Given the description of an element on the screen output the (x, y) to click on. 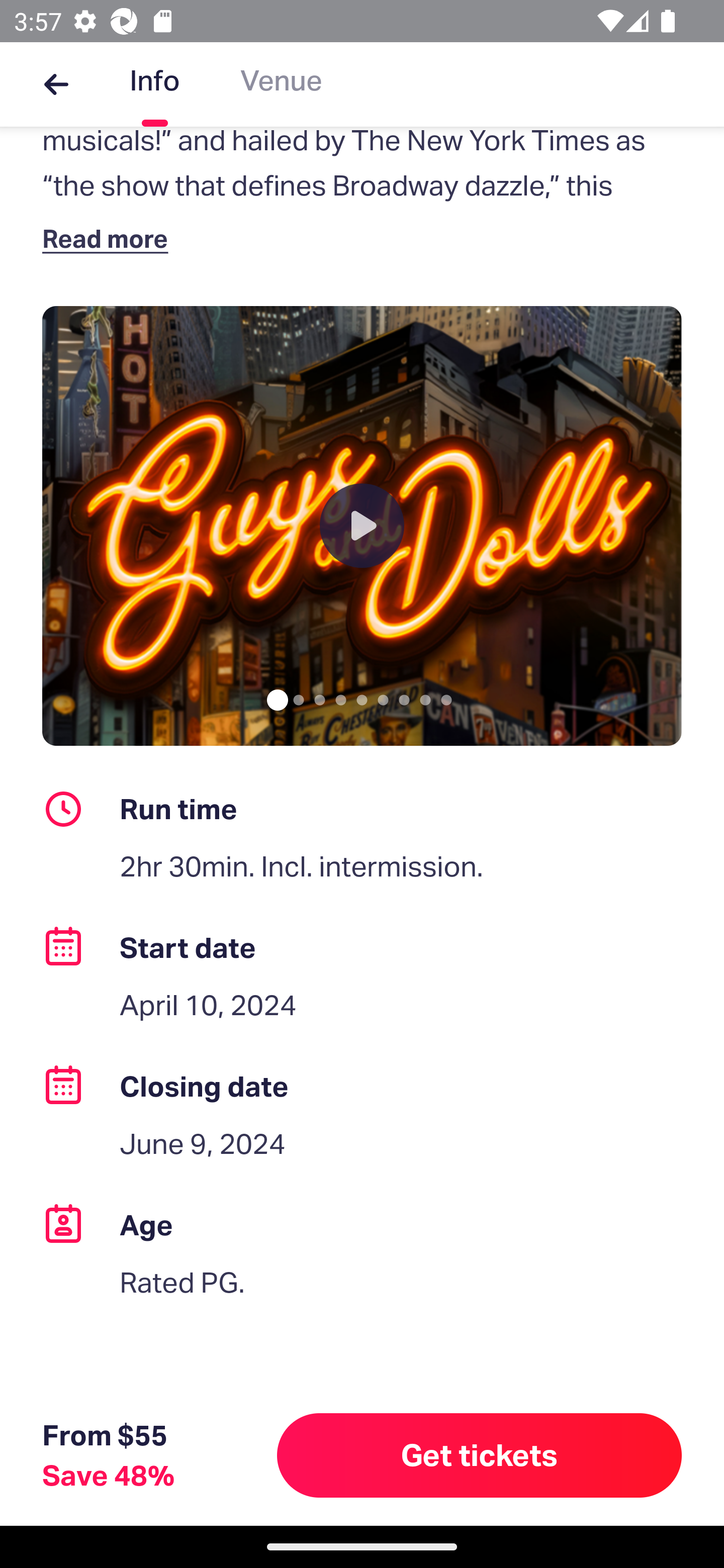
Venue (280, 84)
Read more (109, 238)
Get tickets (479, 1454)
